Given the description of an element on the screen output the (x, y) to click on. 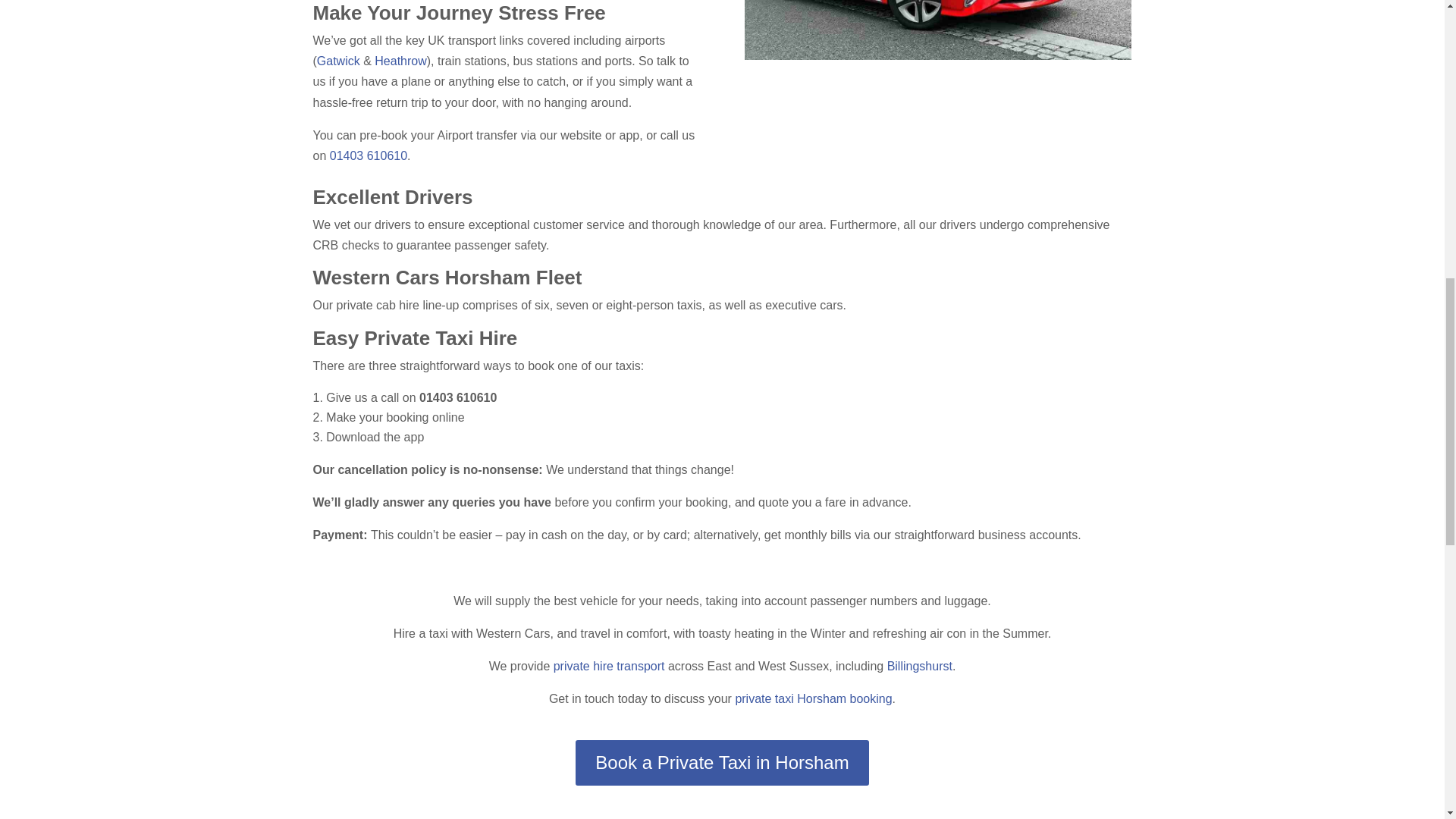
Gatwick (338, 60)
Why Choose Us (937, 29)
private hire transport (609, 666)
Book a Private Taxi in Horsham (721, 762)
Heathrow (400, 60)
Billingshurst (919, 666)
01403 610610 (368, 155)
private taxi Horsham booking (813, 698)
